Given the description of an element on the screen output the (x, y) to click on. 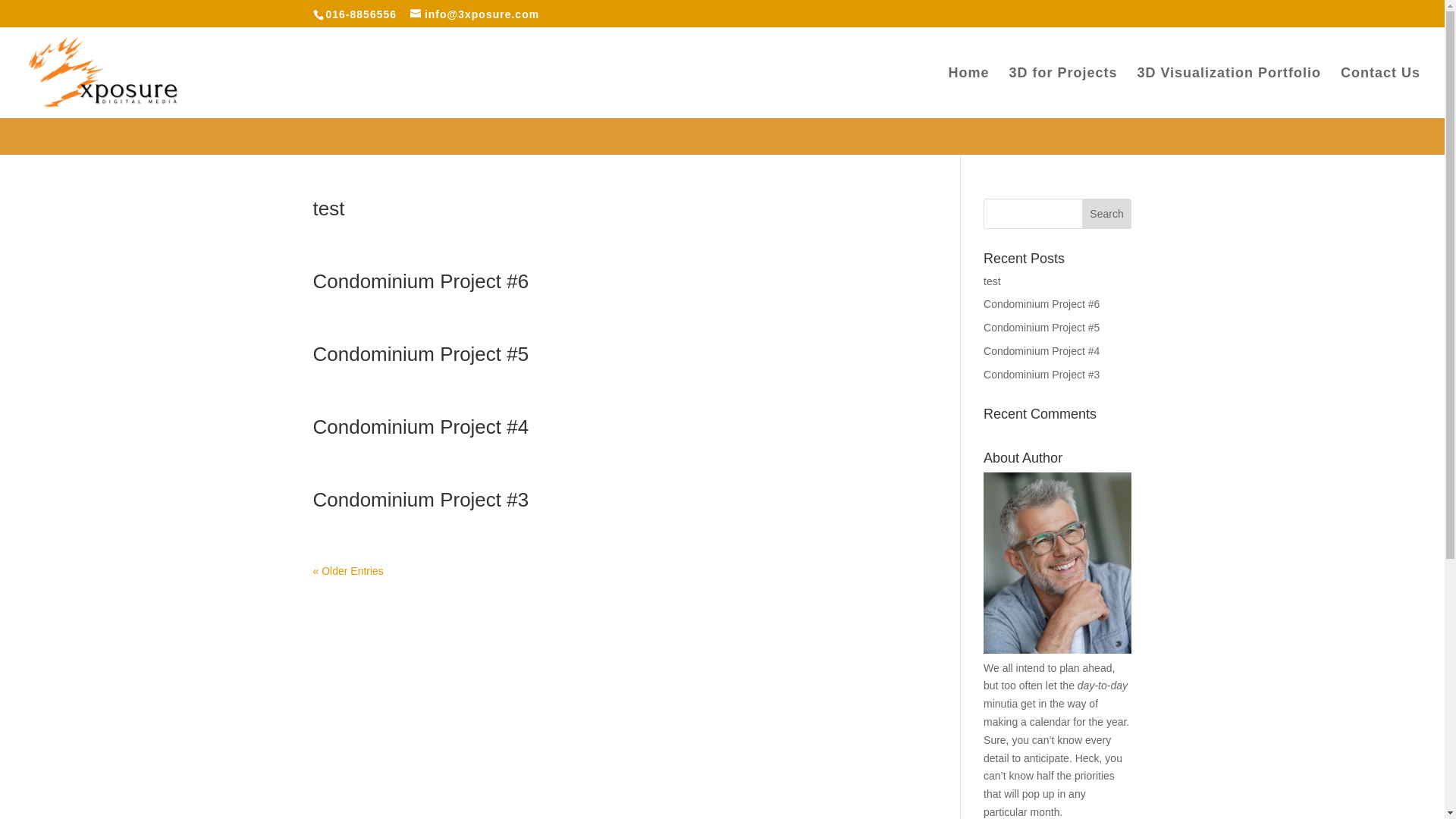
3D Visualization Portfolio Element type: text (1228, 92)
Contact Us Element type: text (1380, 92)
Condominium Project #5 Element type: text (420, 353)
test Element type: text (992, 281)
Home Element type: text (968, 92)
Condominium Project #6 Element type: text (420, 280)
Condominium Project #4 Element type: text (420, 426)
Search Element type: text (1107, 213)
Condominium Project #3 Element type: text (1041, 374)
Condominium Project #6 Element type: text (1041, 304)
Condominium Project #4 Element type: text (1041, 351)
that Element type: text (992, 793)
Condominium Project #3 Element type: text (420, 499)
Condominium Project #5 Element type: text (1041, 327)
test Element type: text (328, 208)
info@3xposure.com Element type: text (474, 13)
3D for Projects Element type: text (1062, 92)
